Given the description of an element on the screen output the (x, y) to click on. 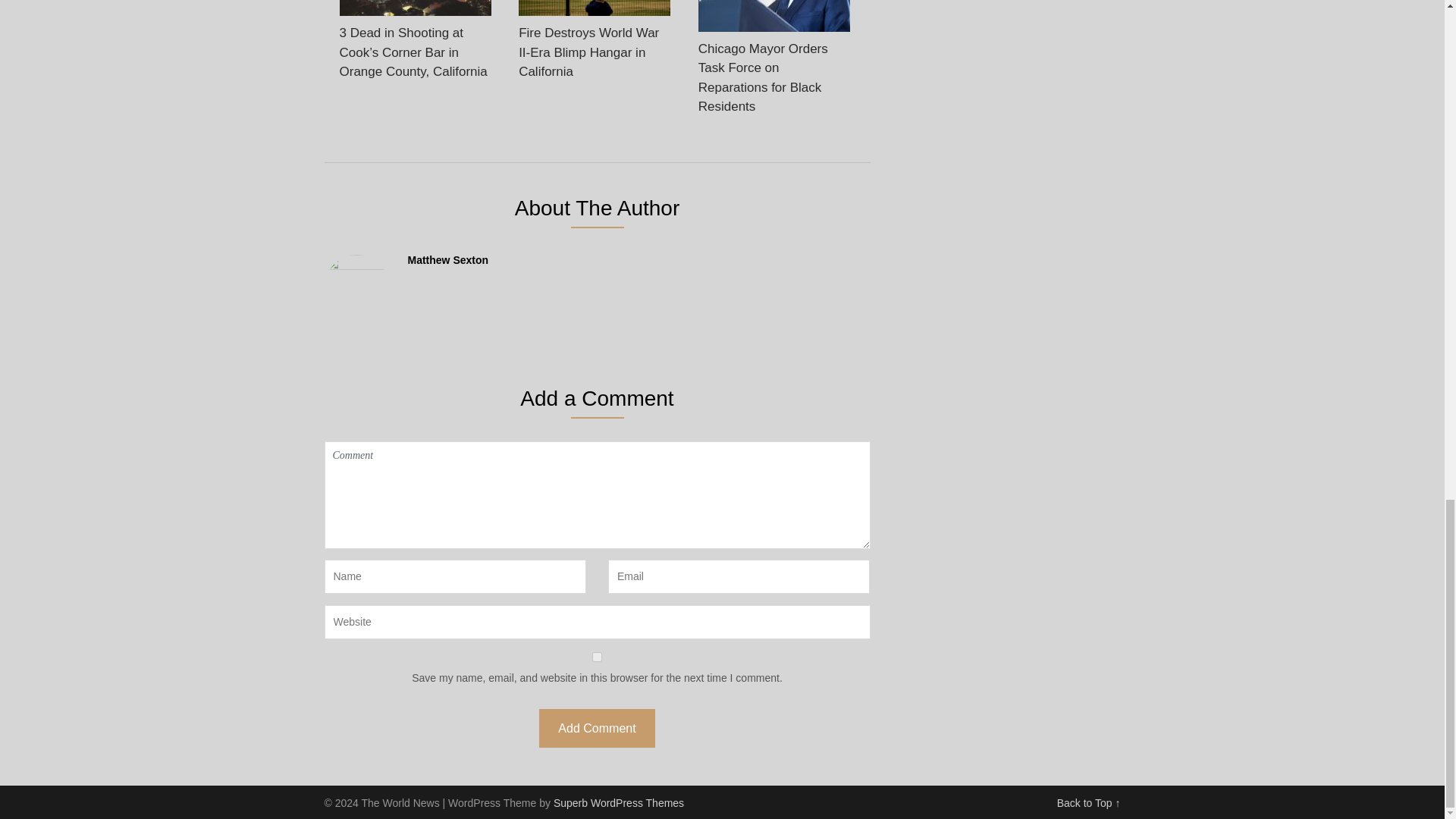
Fire Destroys World War II-Era Blimp Hangar in California (593, 44)
Add Comment (595, 728)
Add Comment (595, 728)
Fire Destroys World War II-Era Blimp Hangar in California (593, 44)
yes (597, 656)
Superb WordPress Themes (618, 802)
